Given the description of an element on the screen output the (x, y) to click on. 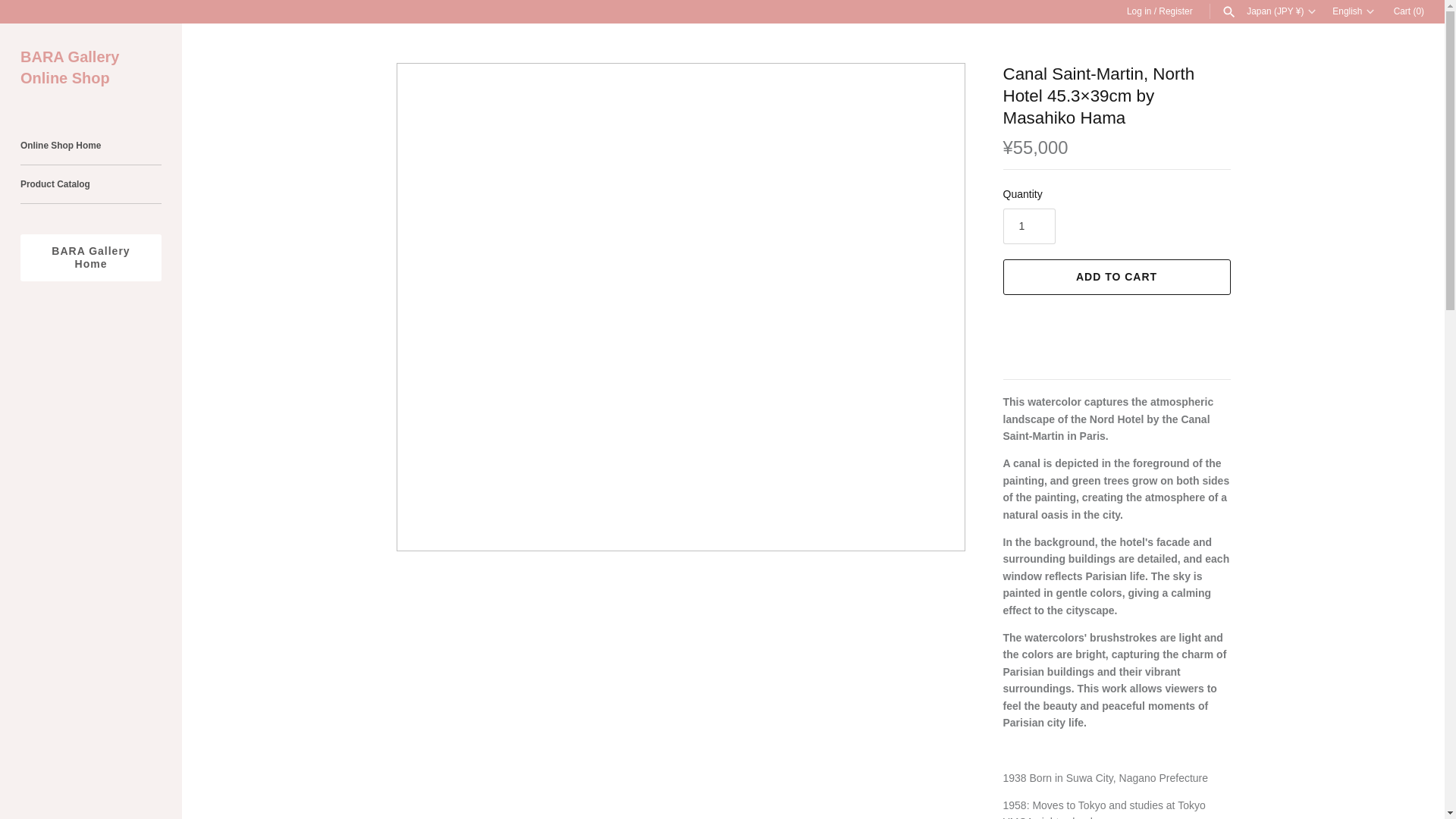
Log in (1138, 10)
1 (1028, 225)
BARA Gallery Online Shop (91, 67)
Register (1175, 10)
